Given the description of an element on the screen output the (x, y) to click on. 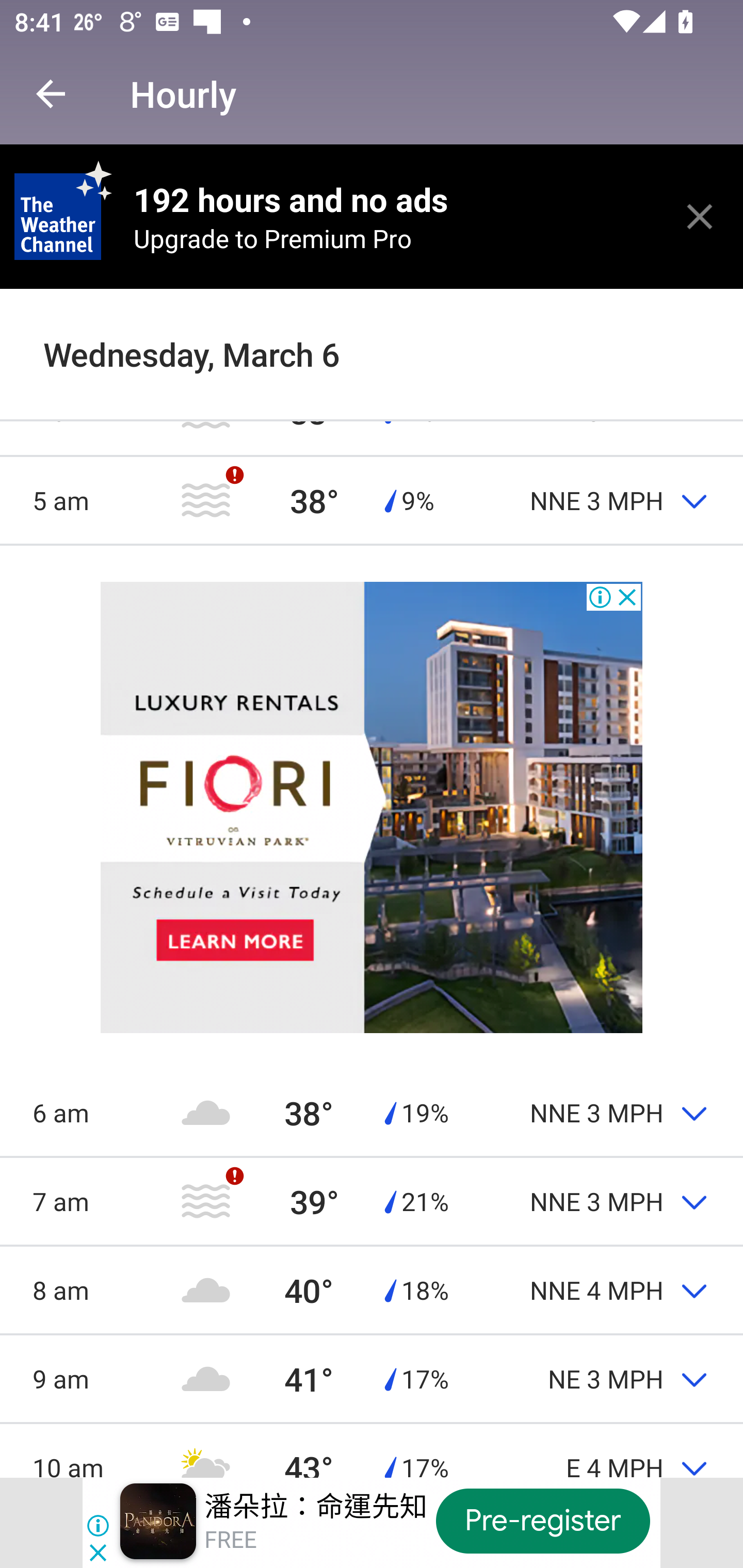
Navigate up (50, 93)
close this (699, 216)
3 am 38° 10% N 3 MPH (371, 327)
5 am 38° 9% NNE 3 MPH (371, 500)
6 am 38° 19% NNE 3 MPH (371, 1112)
7 am 39° 21% NNE 3 MPH (371, 1200)
8 am 40° 18% NNE 4 MPH (371, 1289)
9 am 41° 17% NE 3 MPH (371, 1378)
10 am 43° 17% E 4 MPH (371, 1450)
潘朵拉：命運先知 (316, 1506)
Pre-register (542, 1520)
FREE (230, 1540)
